Given the description of an element on the screen output the (x, y) to click on. 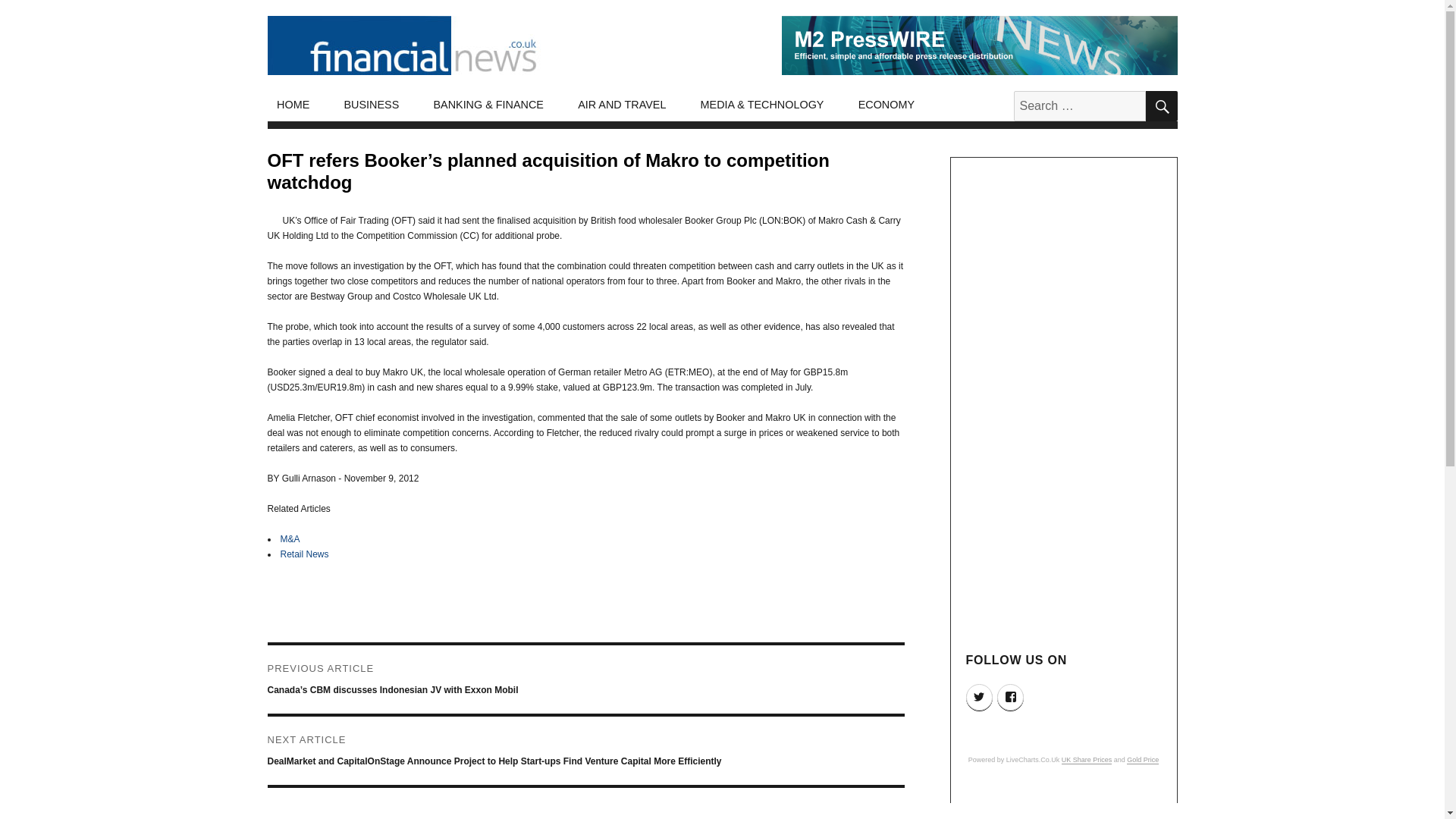
TWITTER (979, 696)
AIR AND TRAVEL (622, 104)
HOME (292, 104)
SEARCH (1160, 105)
Advertisement (1065, 804)
Retail News (305, 553)
Gold Price (1142, 759)
UK Share Prices (1086, 759)
FACEBOOK (1010, 696)
